Given the description of an element on the screen output the (x, y) to click on. 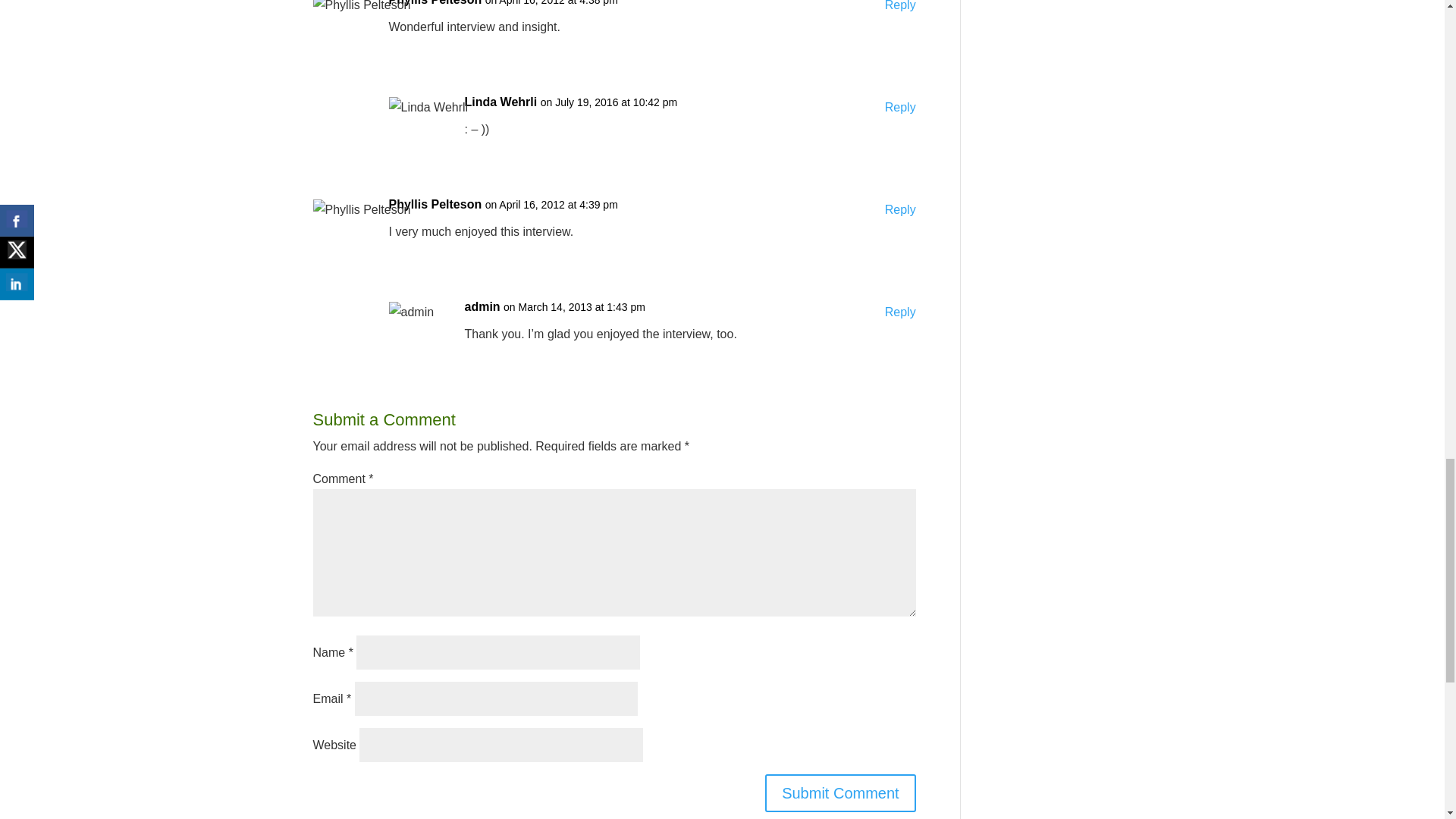
Reply (900, 209)
Reply (900, 107)
Submit Comment (840, 792)
Reply (900, 7)
